Given the description of an element on the screen output the (x, y) to click on. 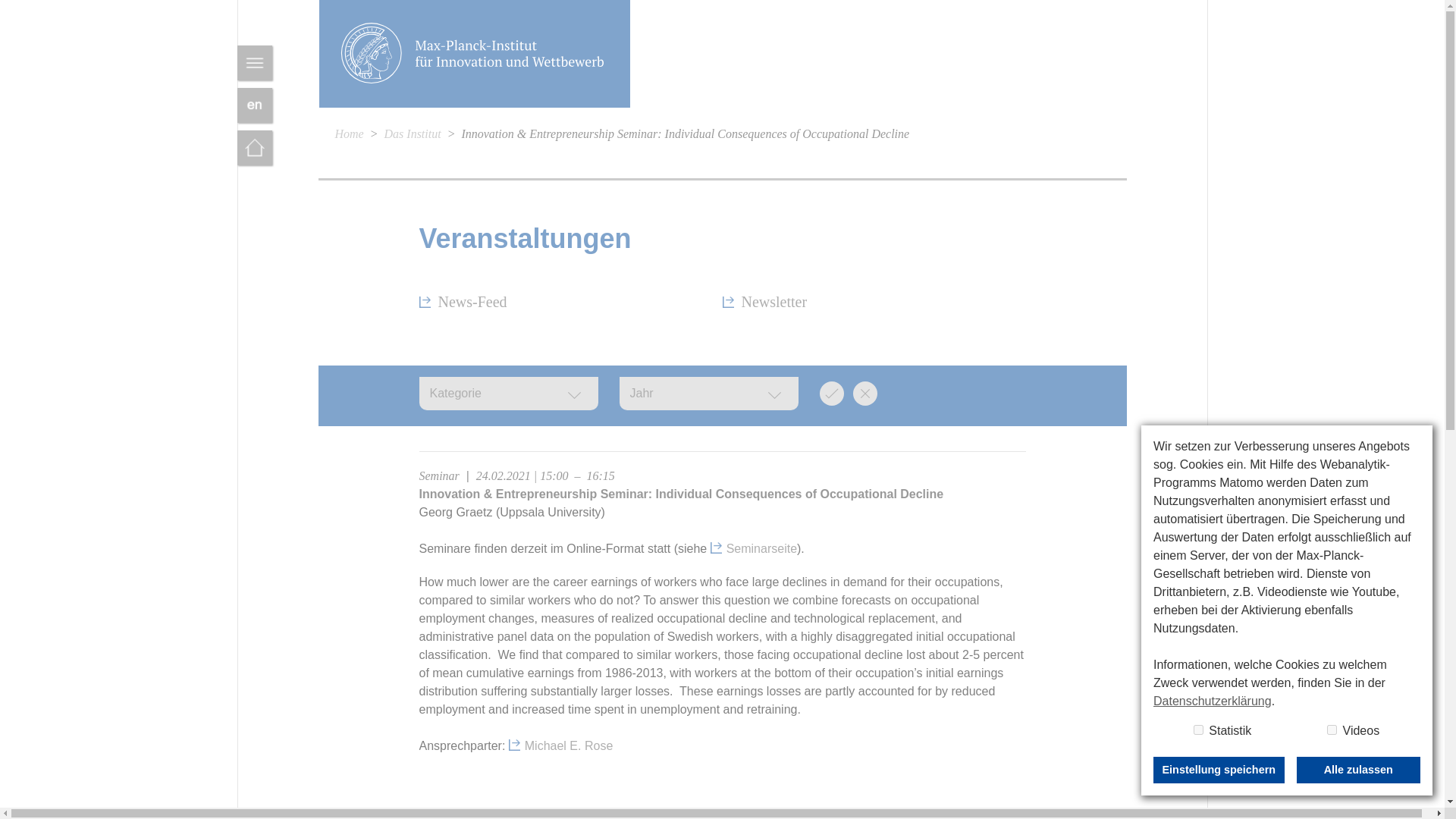
Einstellung speichern (1218, 770)
News-Feed (462, 302)
home (252, 147)
English (252, 104)
Das Institut (412, 133)
Newsletter (764, 302)
Home (349, 133)
English (252, 104)
Alle zulassen (1358, 770)
